Given the description of an element on the screen output the (x, y) to click on. 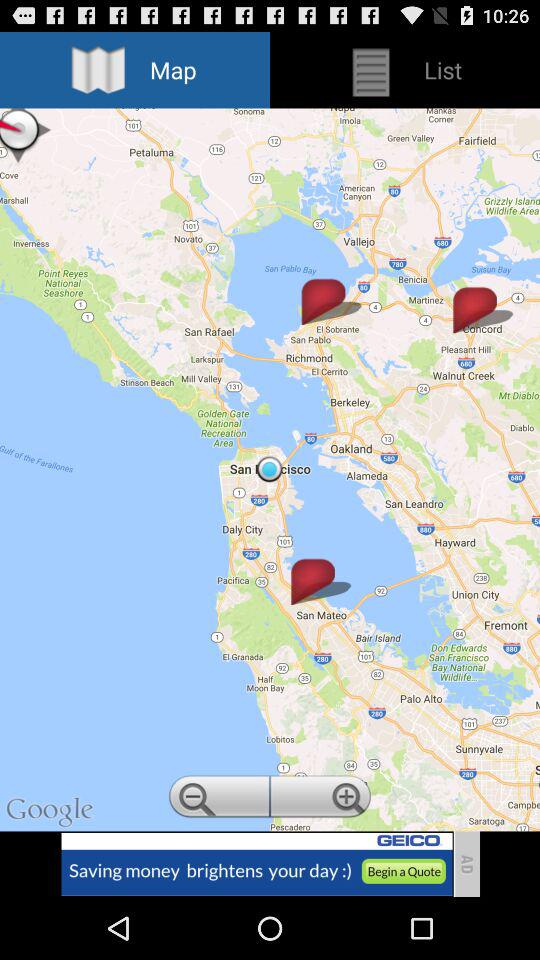
decrease zoom (217, 799)
